Given the description of an element on the screen output the (x, y) to click on. 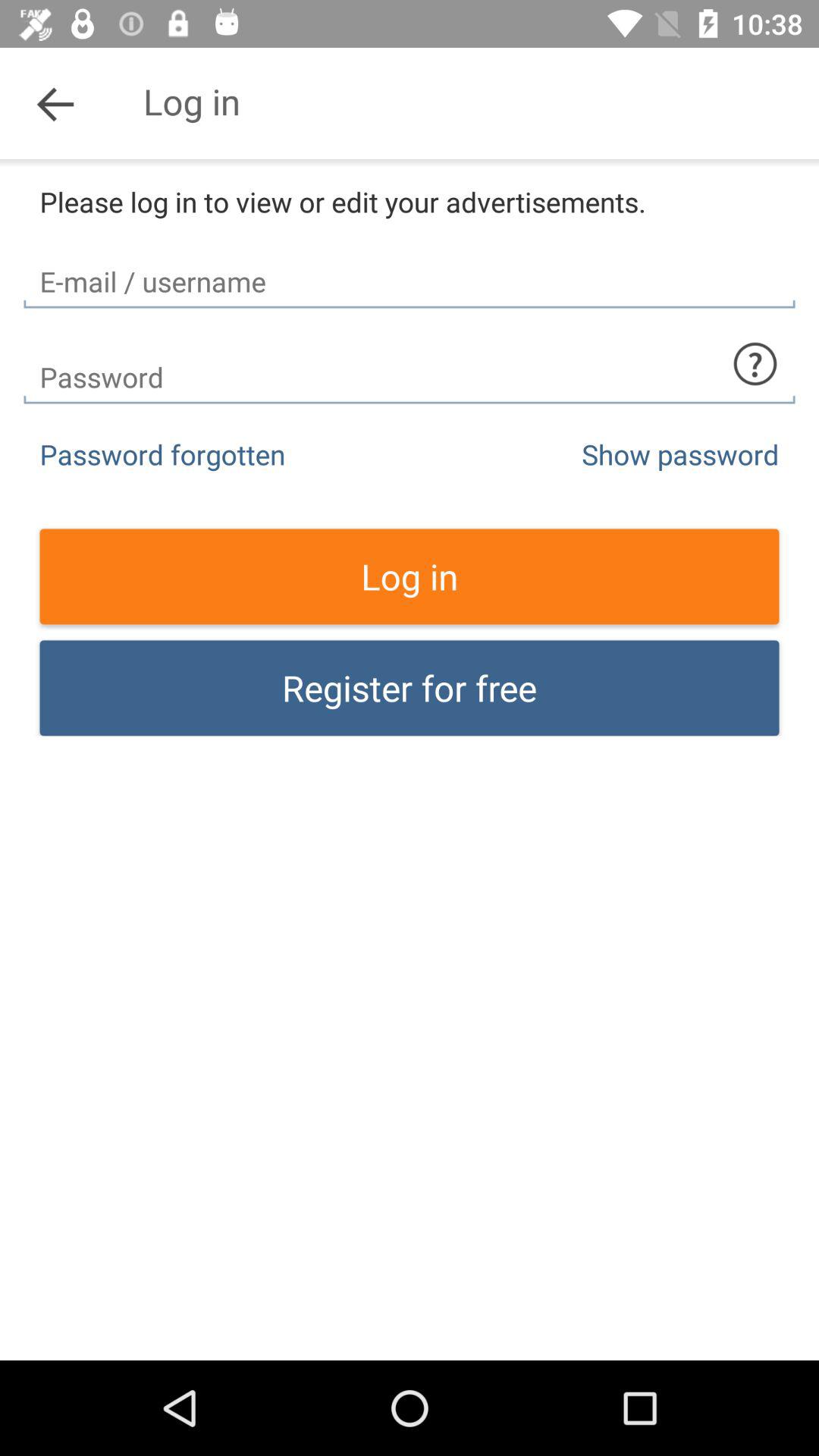
enter password (409, 363)
